Given the description of an element on the screen output the (x, y) to click on. 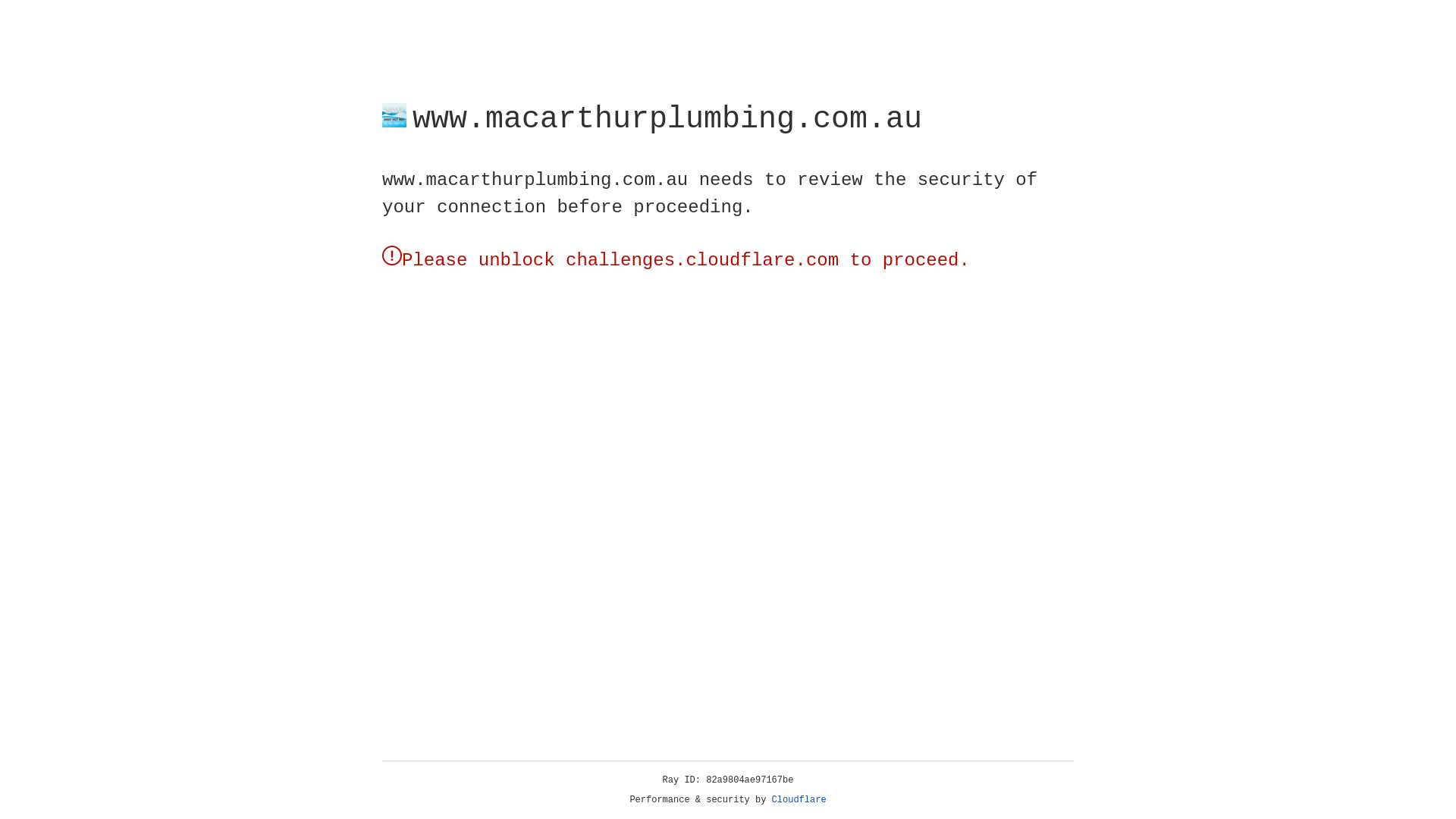
Cloudflare Element type: text (798, 799)
